Given the description of an element on the screen output the (x, y) to click on. 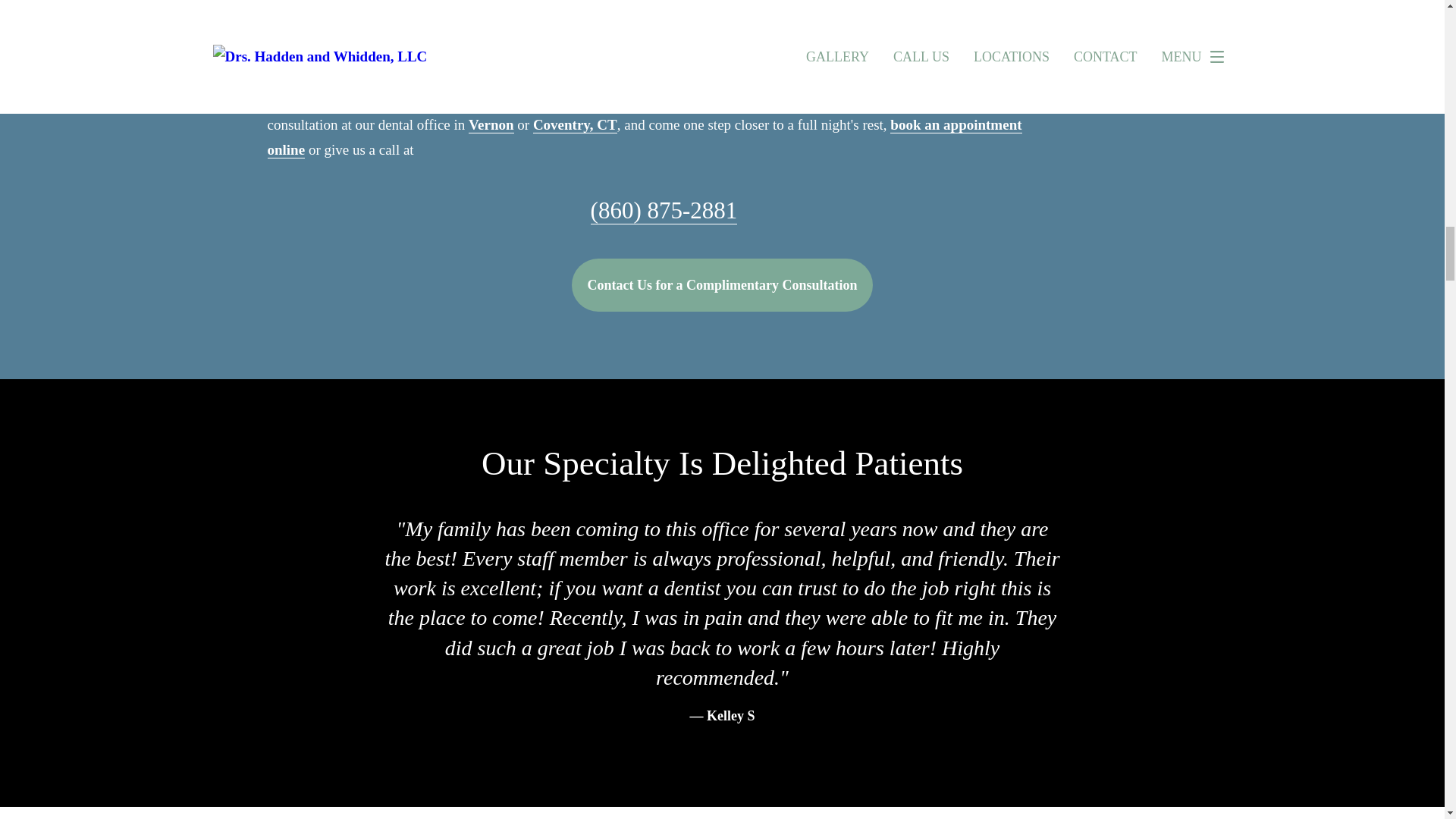
Contact Us for a Complimentary Consultation (722, 285)
book an appointment online (644, 137)
Coventry, CT (574, 125)
Vernon (490, 125)
Dr. Eric Whidden (552, 15)
